Given the description of an element on the screen output the (x, y) to click on. 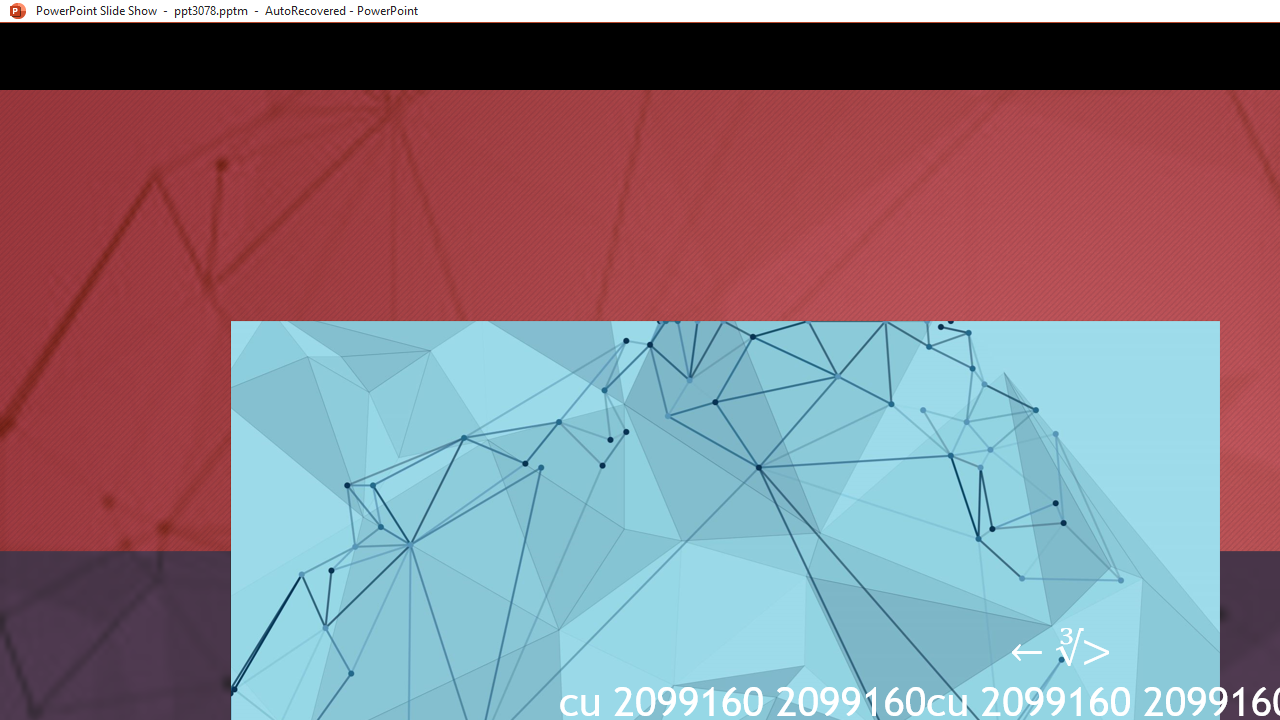
System (10, 11)
System (10, 11)
